Given the description of an element on the screen output the (x, y) to click on. 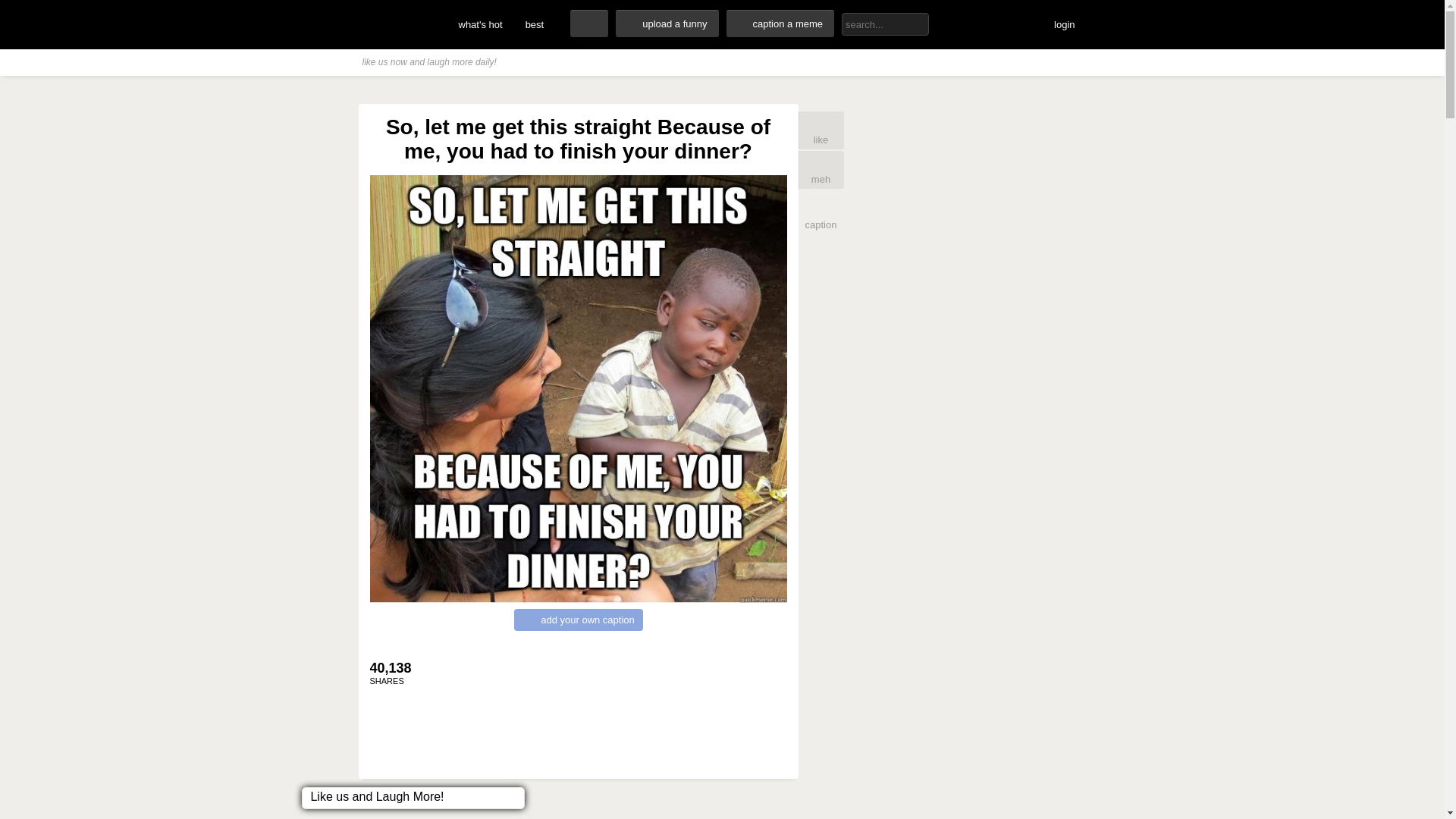
upload a funny (666, 22)
what's hot (479, 24)
randomize (589, 22)
meh (820, 169)
random memes (589, 22)
like (820, 130)
caption a meme (780, 22)
add your own caption (578, 619)
caption (820, 212)
